Given the description of an element on the screen output the (x, y) to click on. 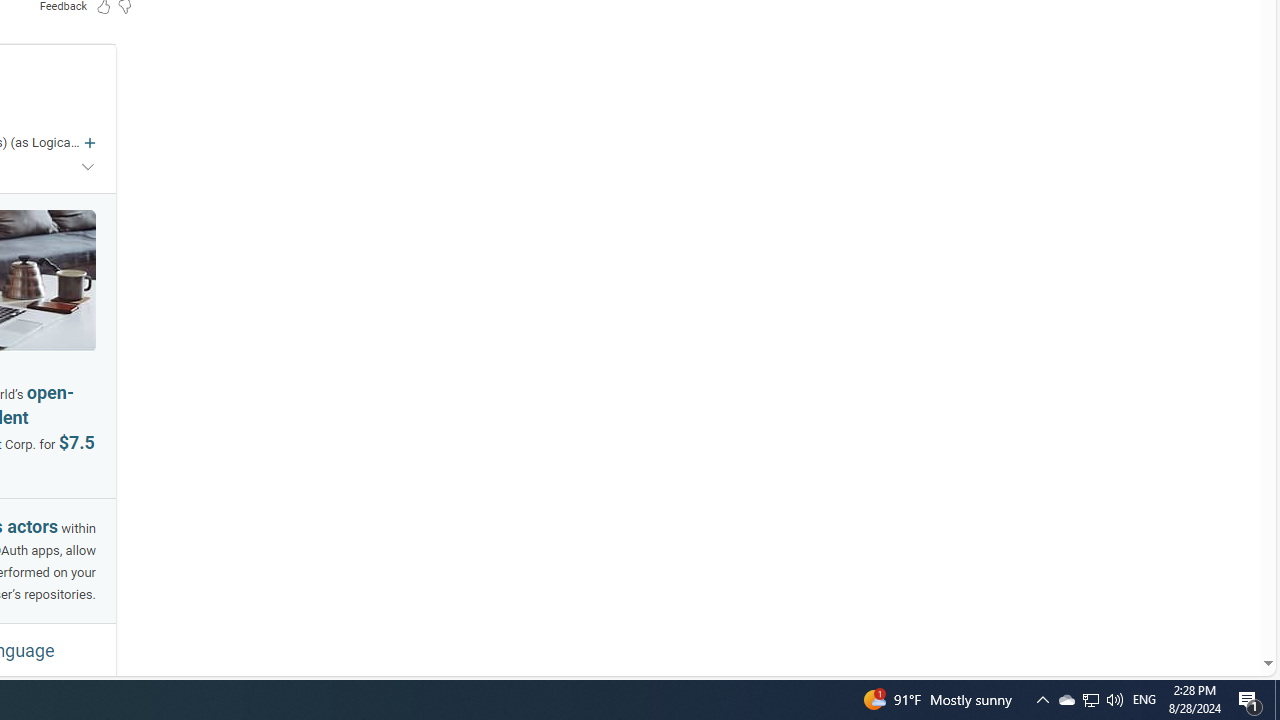
Search more (1222, 604)
AutomationID: mfa_root (1192, 603)
